Given the description of an element on the screen output the (x, y) to click on. 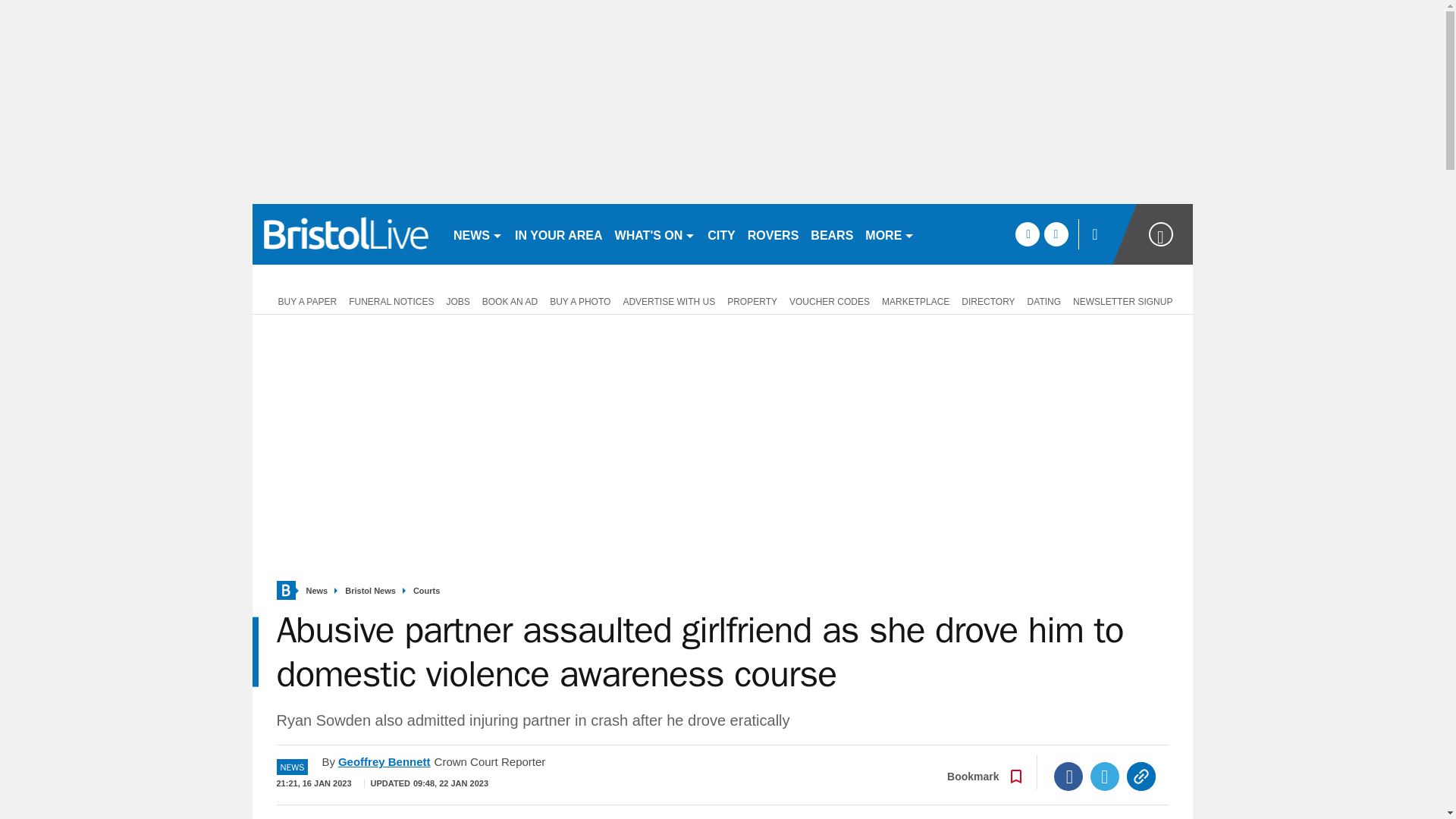
BEARS (832, 233)
MORE (889, 233)
Facebook (1068, 776)
bristolpost (345, 233)
Twitter (1104, 776)
CITY (721, 233)
IN YOUR AREA (558, 233)
WHAT'S ON (654, 233)
twitter (1055, 233)
NEWS (477, 233)
facebook (1026, 233)
ROVERS (773, 233)
